Given the description of an element on the screen output the (x, y) to click on. 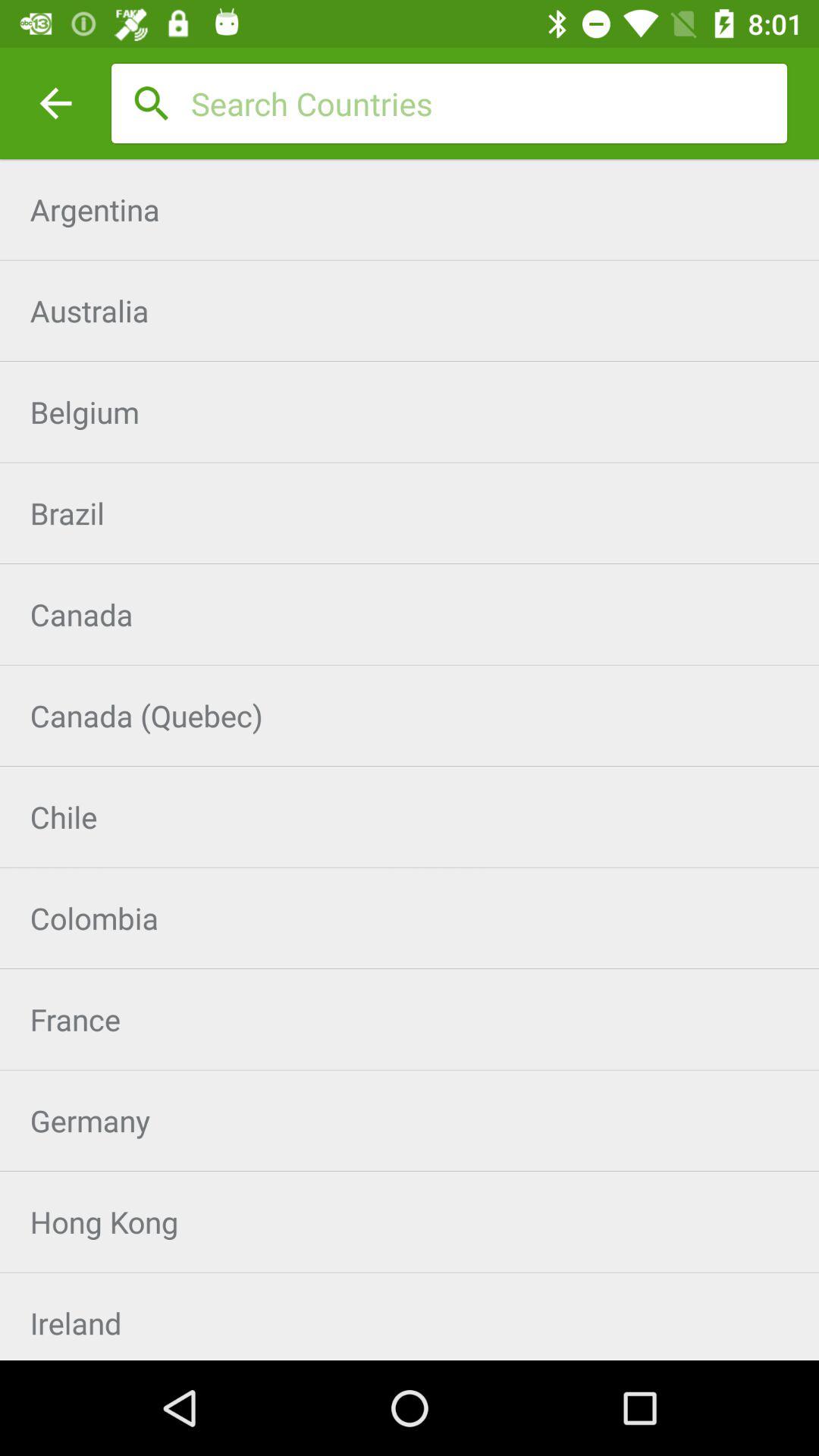
swipe to colombia item (409, 917)
